Given the description of an element on the screen output the (x, y) to click on. 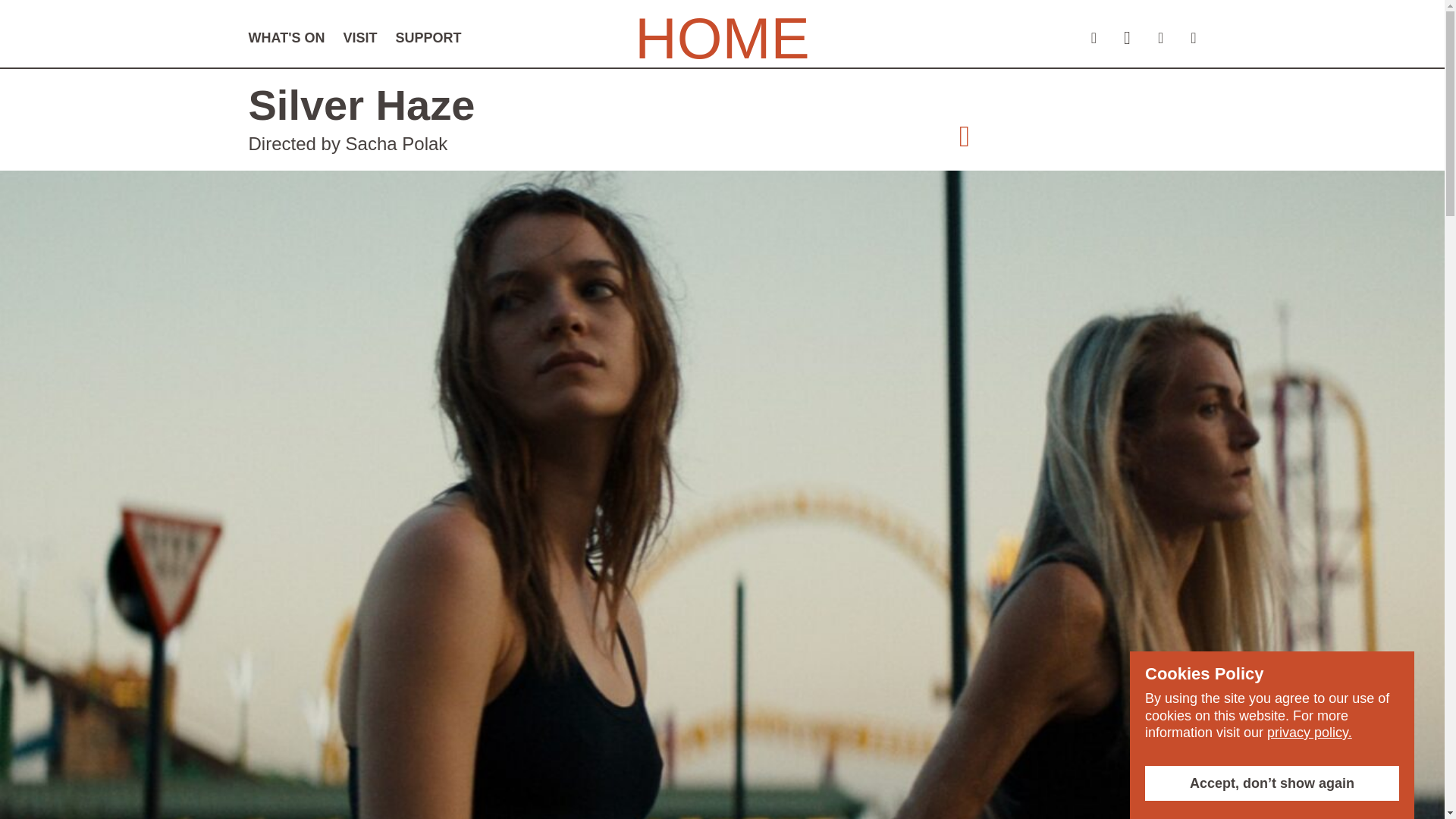
VISIT (359, 37)
SUPPORT (427, 37)
WHAT'S ON (286, 37)
HOME (721, 38)
